Given the description of an element on the screen output the (x, y) to click on. 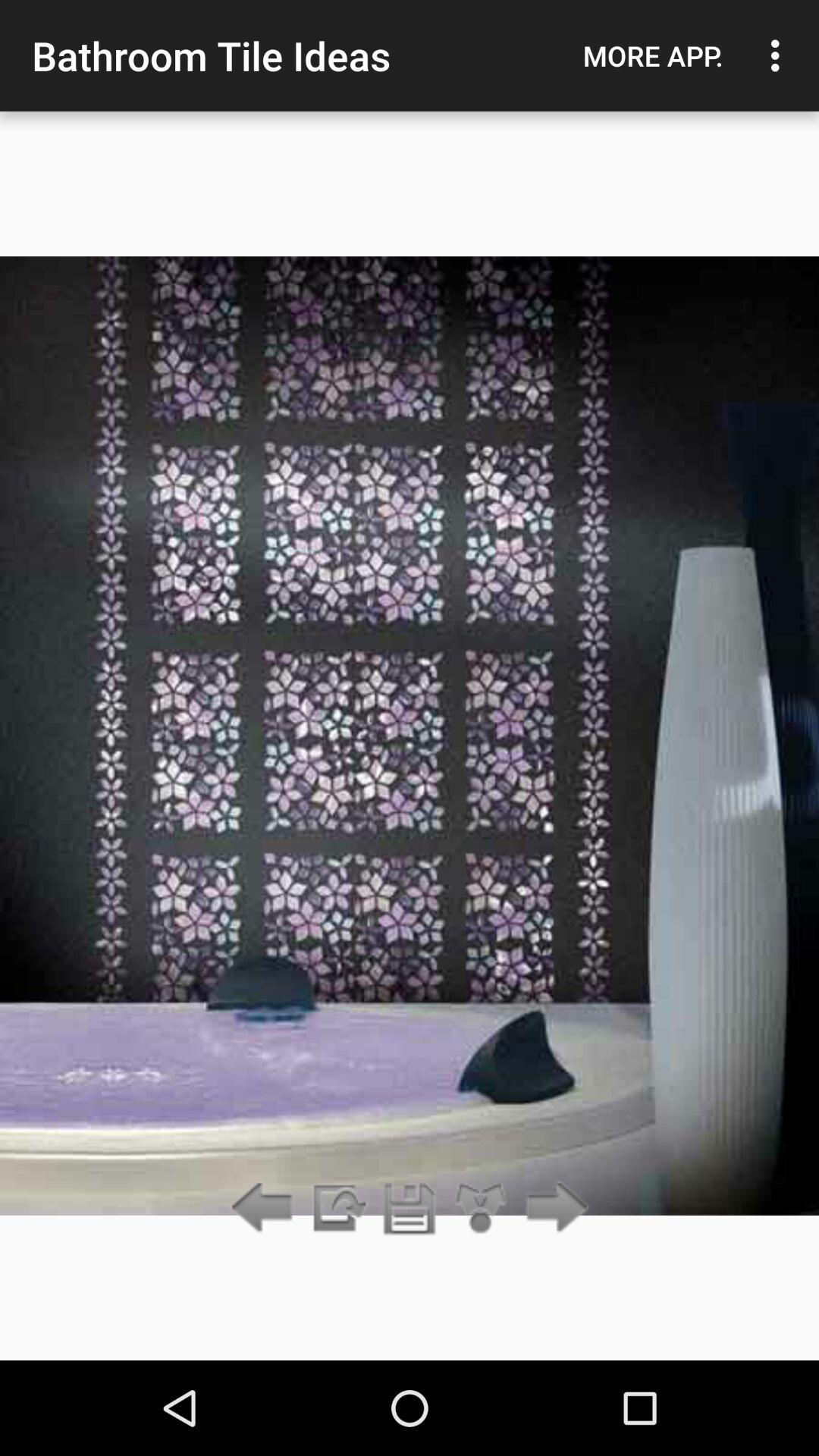
export photo (337, 1208)
